Given the description of an element on the screen output the (x, y) to click on. 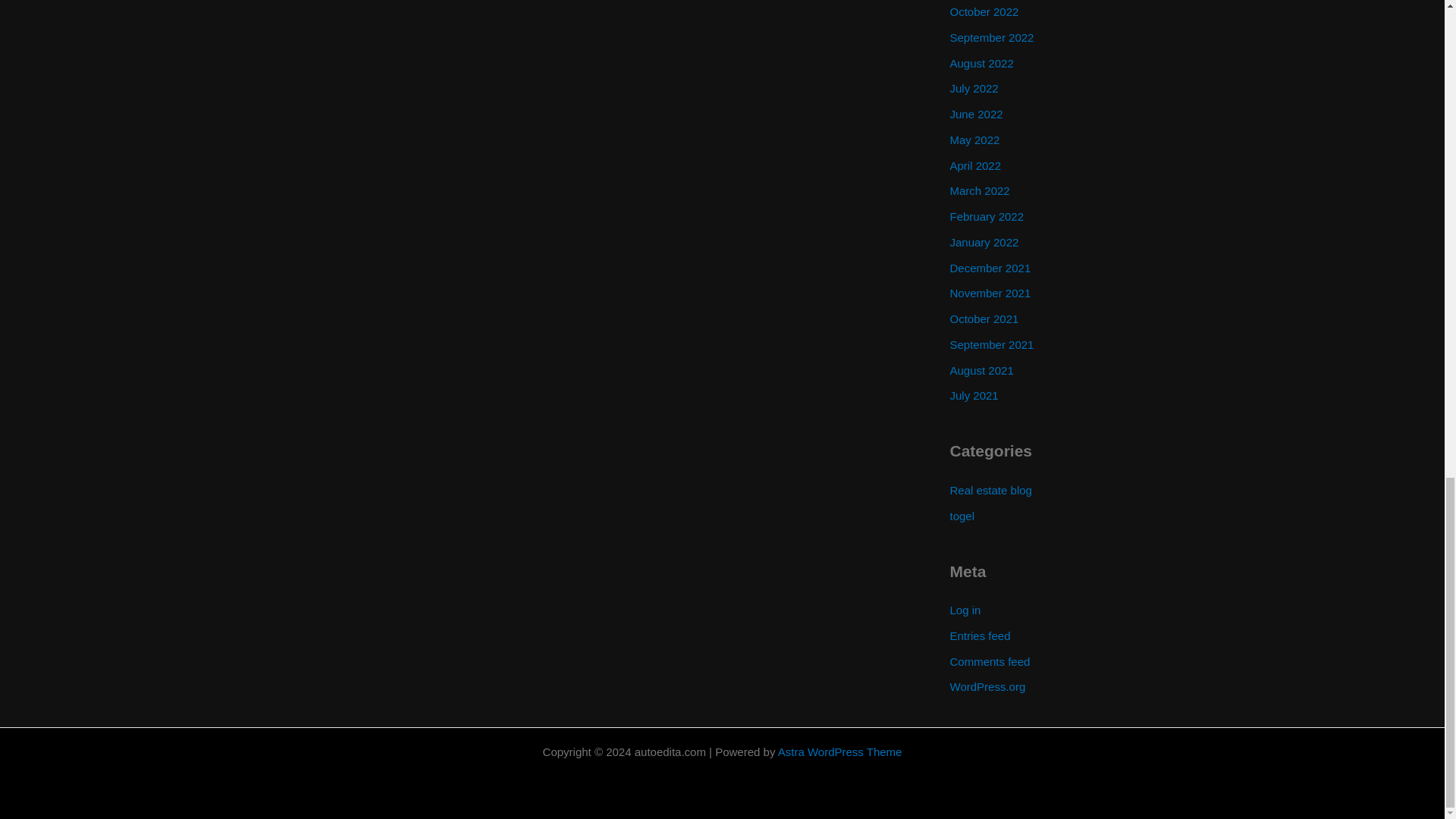
September 2022 (991, 37)
August 2022 (981, 62)
October 2022 (983, 11)
July 2022 (973, 88)
